Given the description of an element on the screen output the (x, y) to click on. 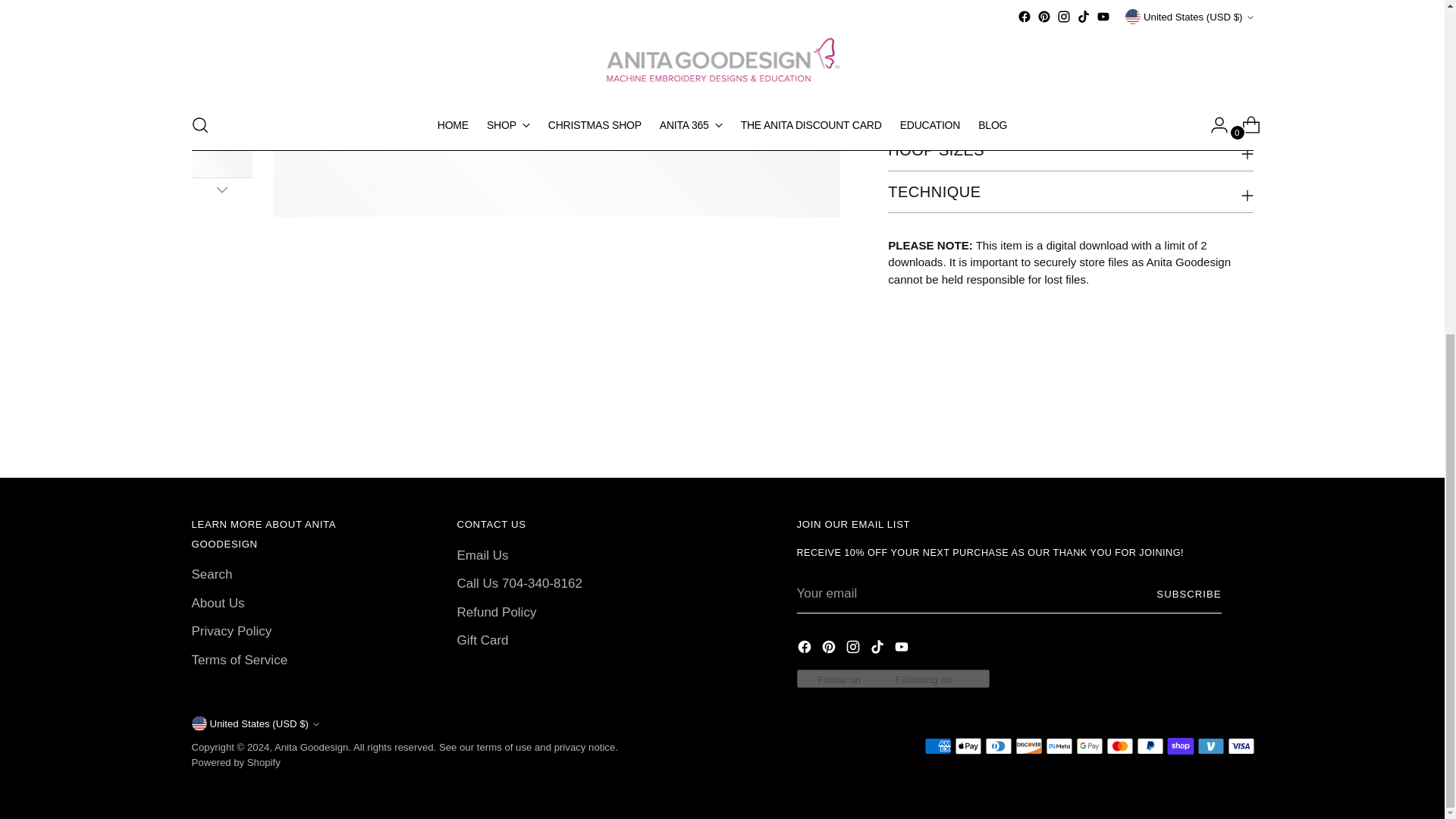
Down (220, 189)
